Given the description of an element on the screen output the (x, y) to click on. 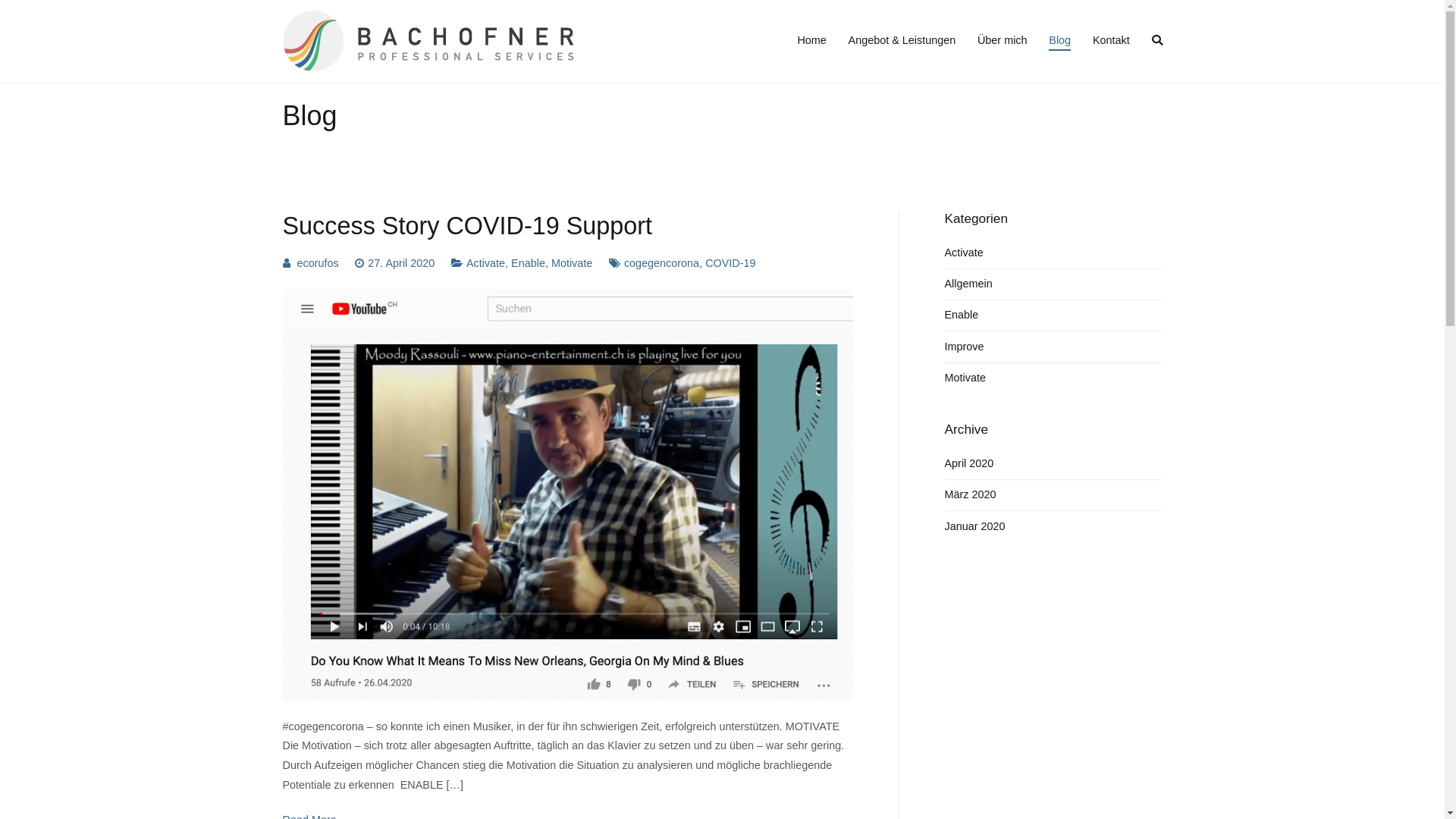
COVID-19 Element type: text (730, 263)
Home Element type: text (811, 40)
ecorufos Element type: text (317, 263)
Bachofner Professional Services Element type: text (691, 51)
Angebot & Leistungen Element type: text (902, 40)
Blog Element type: text (1059, 40)
27. April 2020 Element type: text (400, 263)
Januar 2020 Element type: text (974, 526)
Kontakt Element type: text (1110, 40)
Activate Element type: text (485, 263)
cogegencorona Element type: text (661, 263)
Enable Element type: text (528, 263)
Suche Element type: text (26, 13)
Enable Element type: text (961, 315)
Allgemein Element type: text (968, 284)
Improve Element type: text (964, 346)
Activate Element type: text (963, 252)
Motivate Element type: text (571, 263)
April 2020 Element type: text (969, 463)
Success Story COVID-19 Support Element type: text (467, 225)
Motivate Element type: text (964, 378)
